Given the description of an element on the screen output the (x, y) to click on. 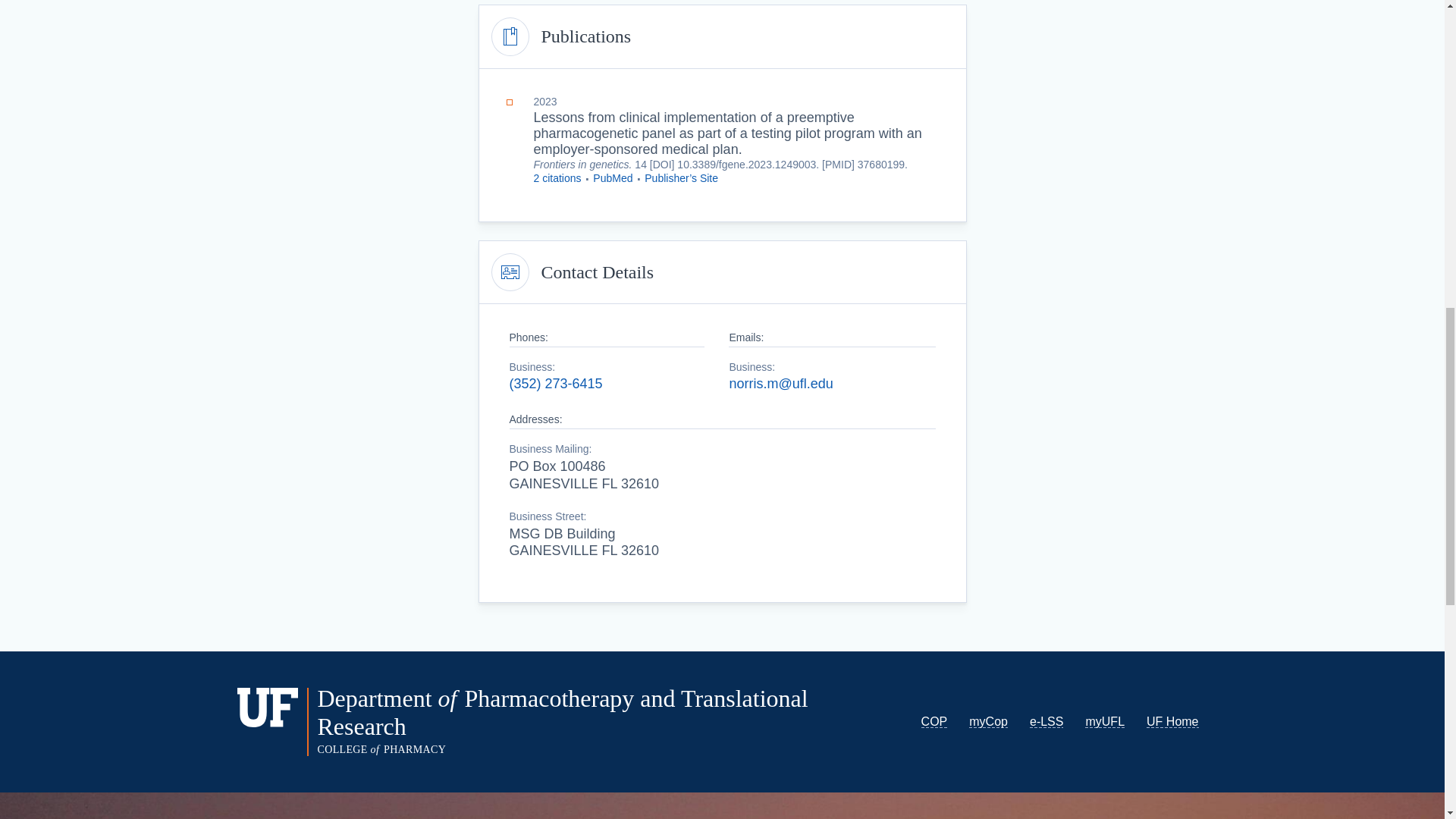
myUFL (1104, 721)
COP (934, 721)
UF Home (1172, 721)
myCop (988, 721)
e-LSS (1045, 721)
